Given the description of an element on the screen output the (x, y) to click on. 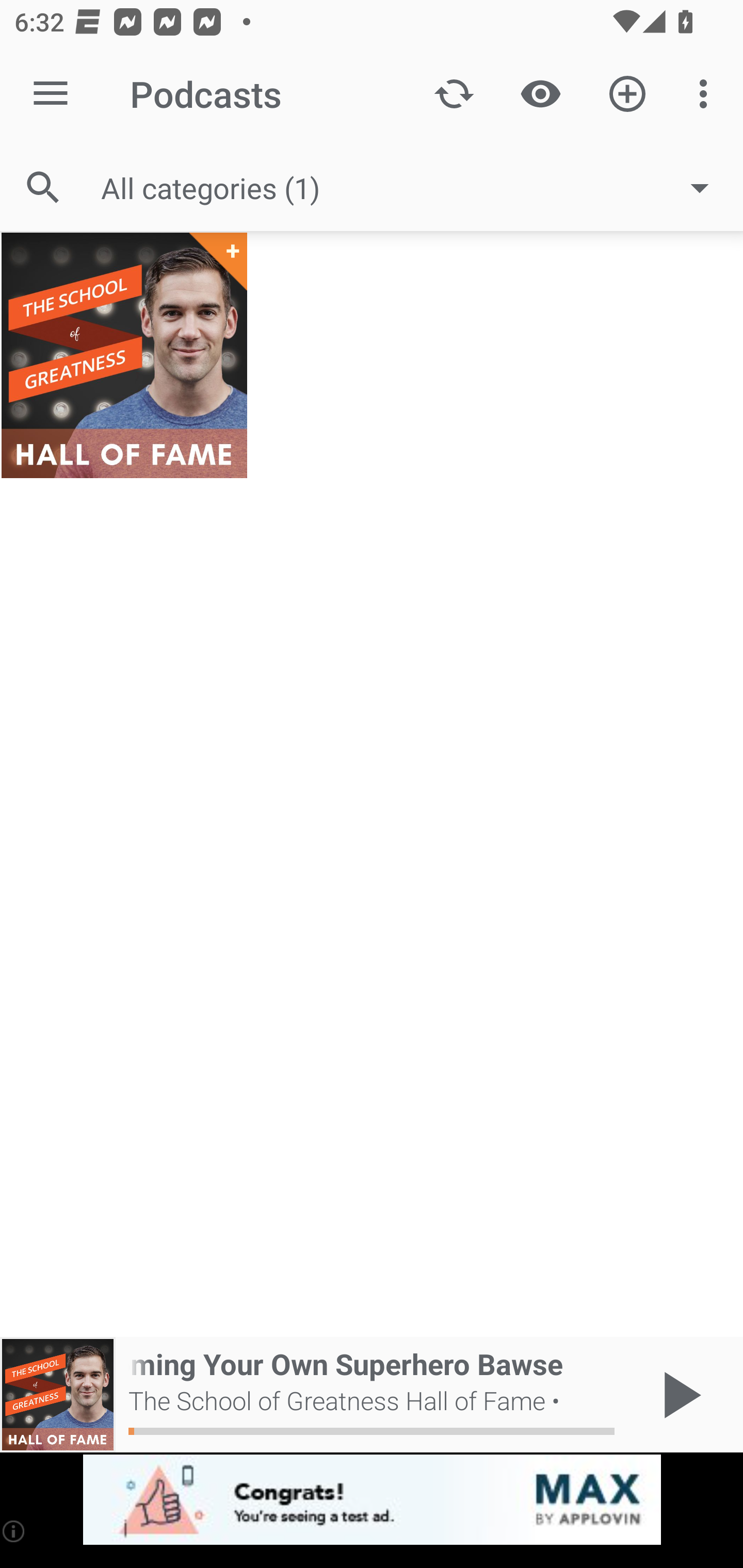
Open navigation sidebar (50, 93)
Update (453, 93)
Show / Hide played content (540, 93)
Add new Podcast (626, 93)
More options (706, 93)
Search (43, 187)
All categories (1) (414, 188)
The School of Greatness Hall of Fame + (124, 355)
Play / Pause (677, 1394)
app-monetization (371, 1500)
(i) (14, 1531)
